Given the description of an element on the screen output the (x, y) to click on. 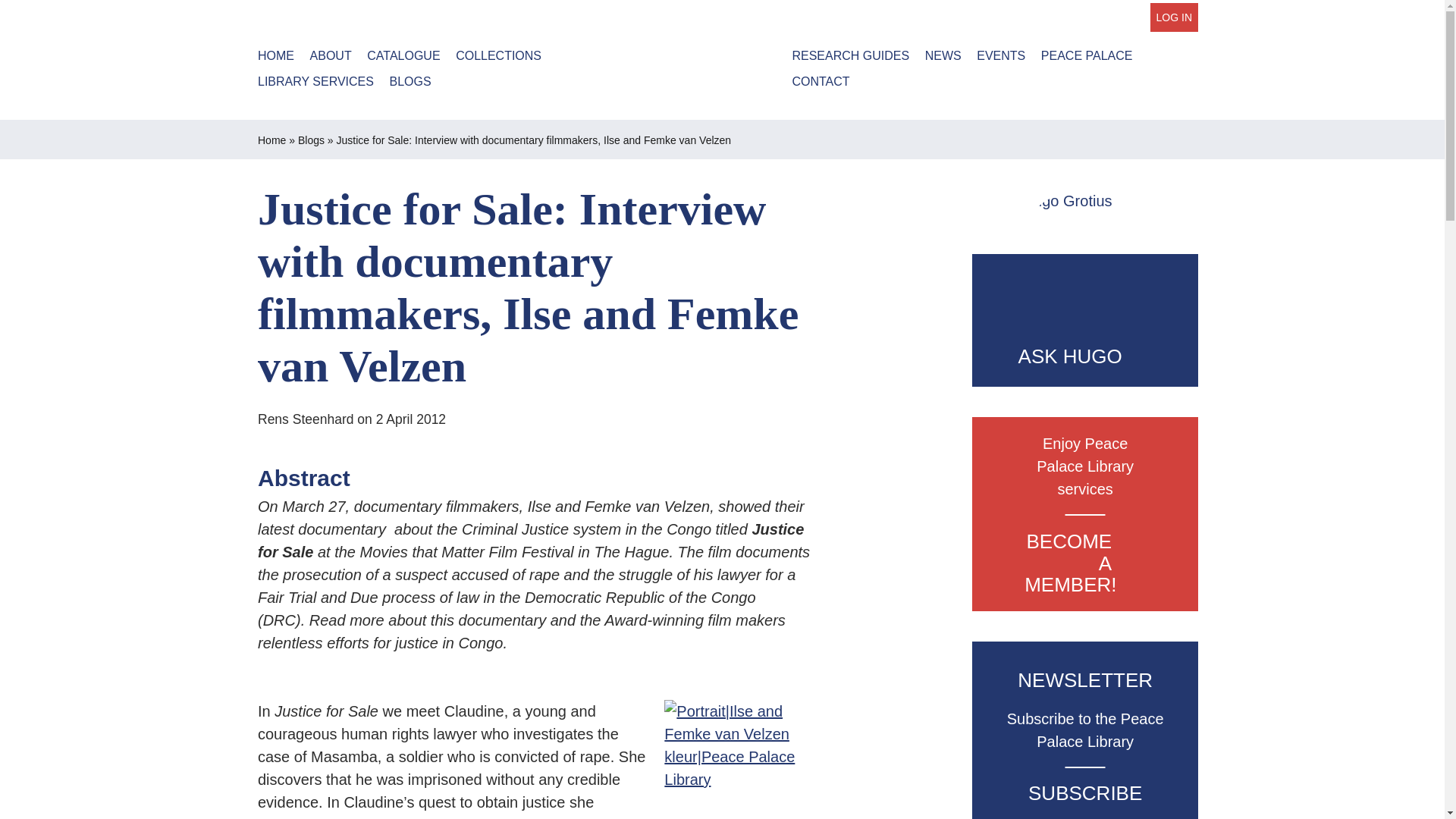
Ilse and Femke van Velzen kleur (742, 759)
PPL Discovery (402, 56)
HOME (275, 56)
LOG IN (1174, 17)
ABOUT (331, 56)
peacepalacelibrary logo (727, 55)
Research Guides (850, 56)
LIBRARY SERVICES (315, 81)
COLLECTIONS (498, 56)
